Given the description of an element on the screen output the (x, y) to click on. 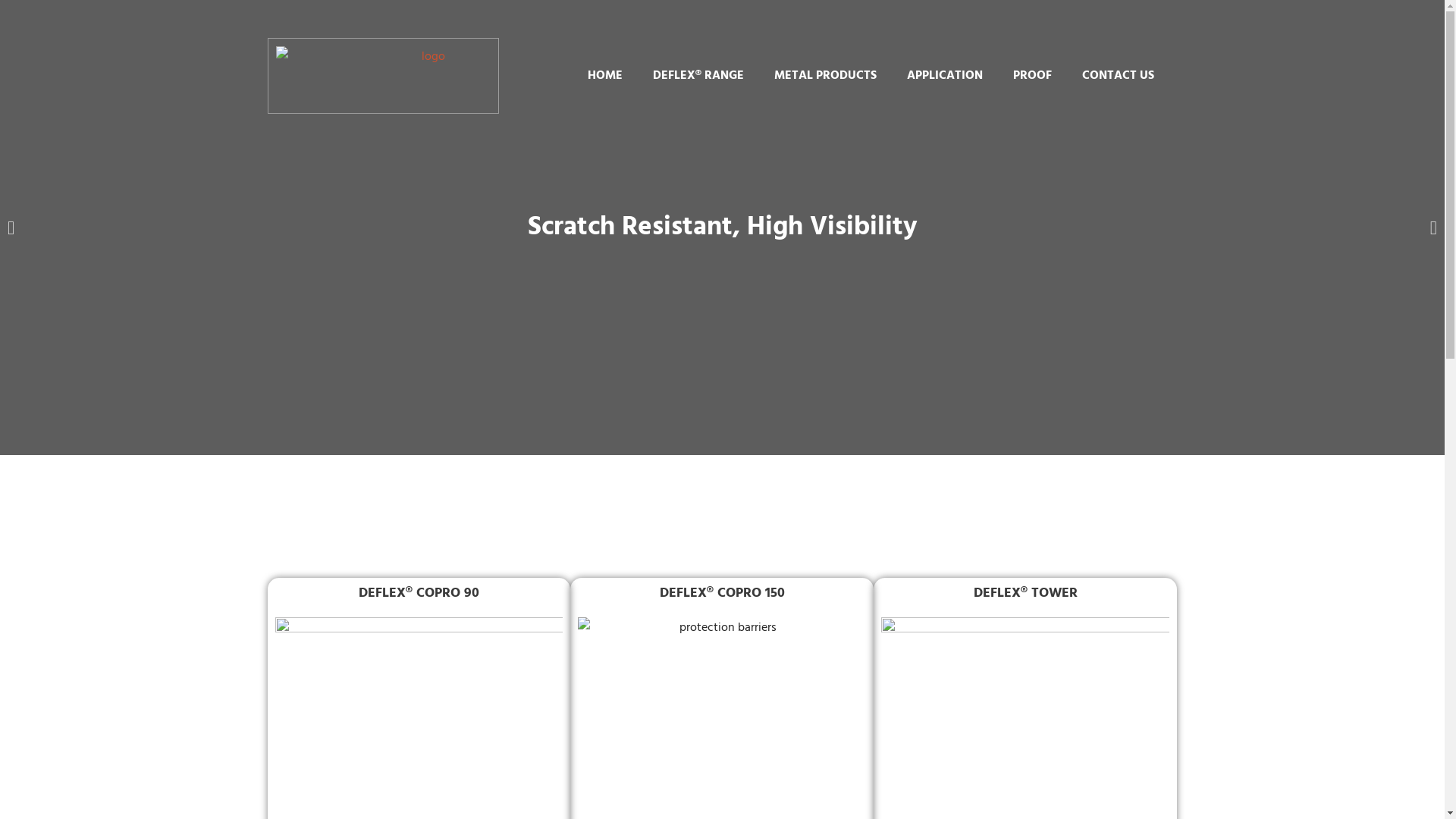
CONTACT US Element type: text (1117, 75)
APPLICATION Element type: text (944, 75)
PROOF Element type: text (1031, 75)
HOME Element type: text (604, 75)
METAL PRODUCTS Element type: text (825, 75)
